Given the description of an element on the screen output the (x, y) to click on. 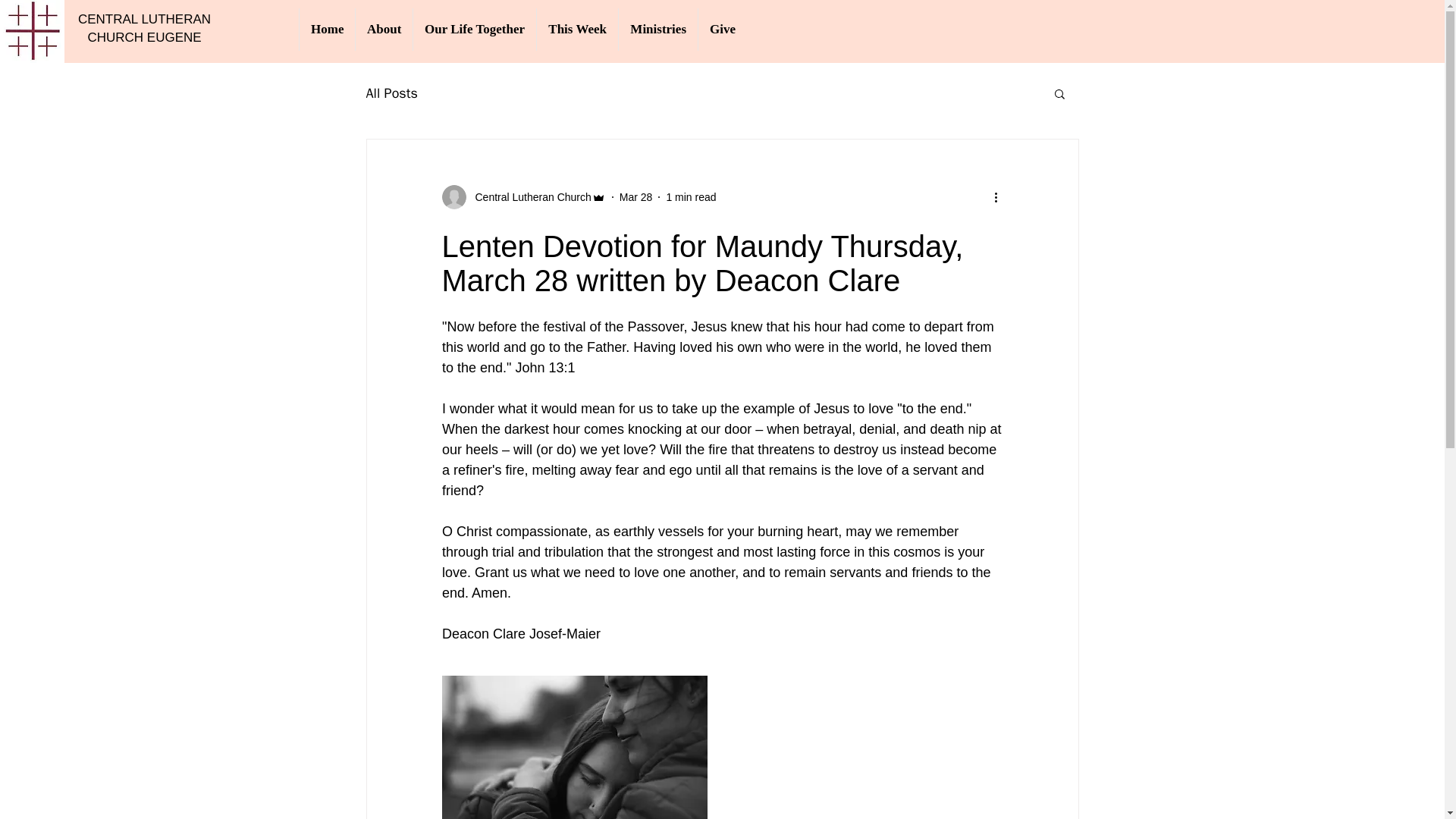
CENTRAL LUTHERAN (144, 19)
Central Lutheran Church (528, 197)
All Posts (390, 93)
This Week (576, 29)
Home (326, 29)
Give (721, 29)
1 min read (690, 196)
Mar 28 (636, 196)
CHURCH EUGENE (143, 37)
Central Lutheran Church (523, 197)
